Given the description of an element on the screen output the (x, y) to click on. 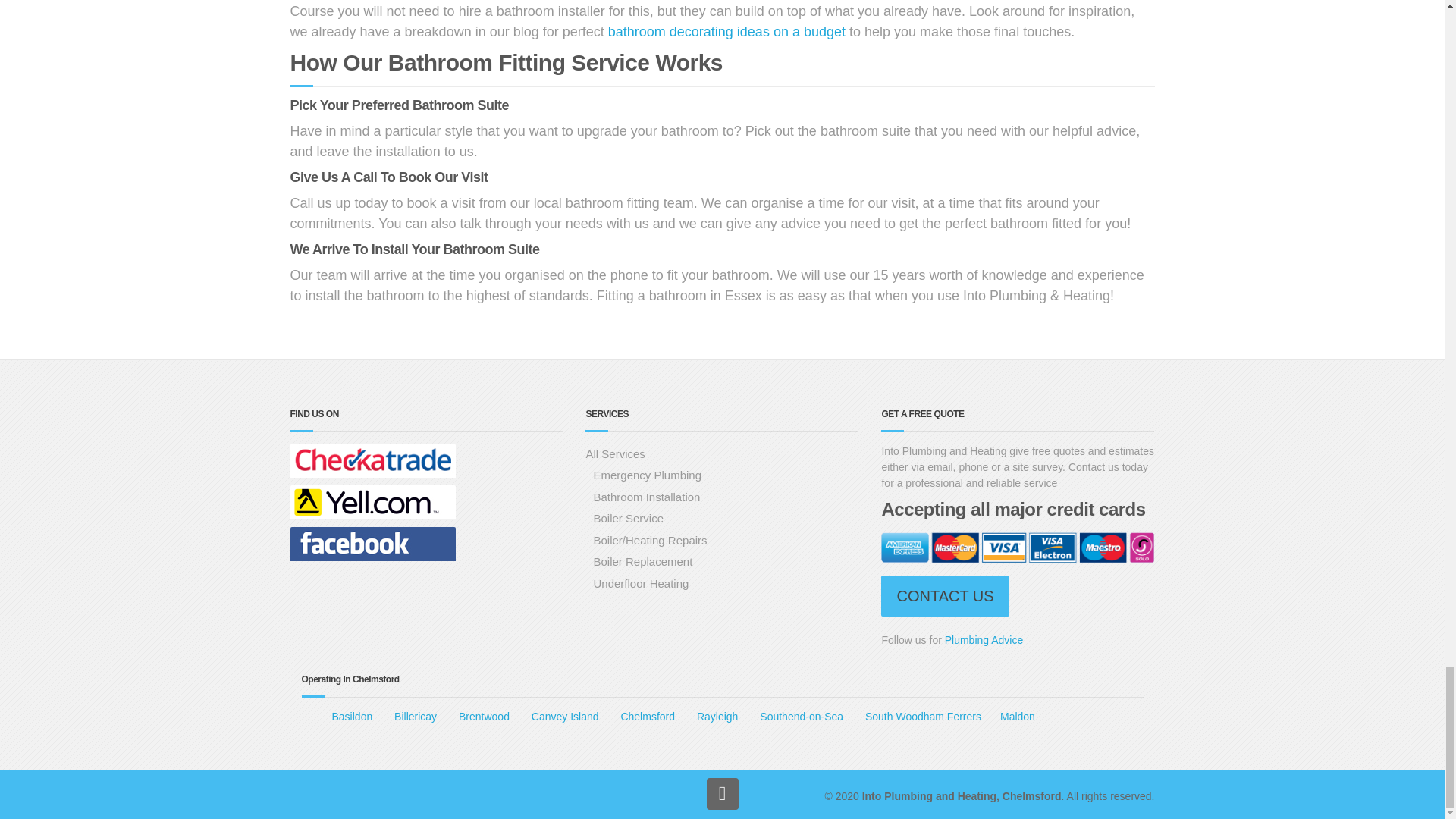
bathroom decorating (726, 30)
yell.com (371, 504)
Facebook (371, 546)
